Given the description of an element on the screen output the (x, y) to click on. 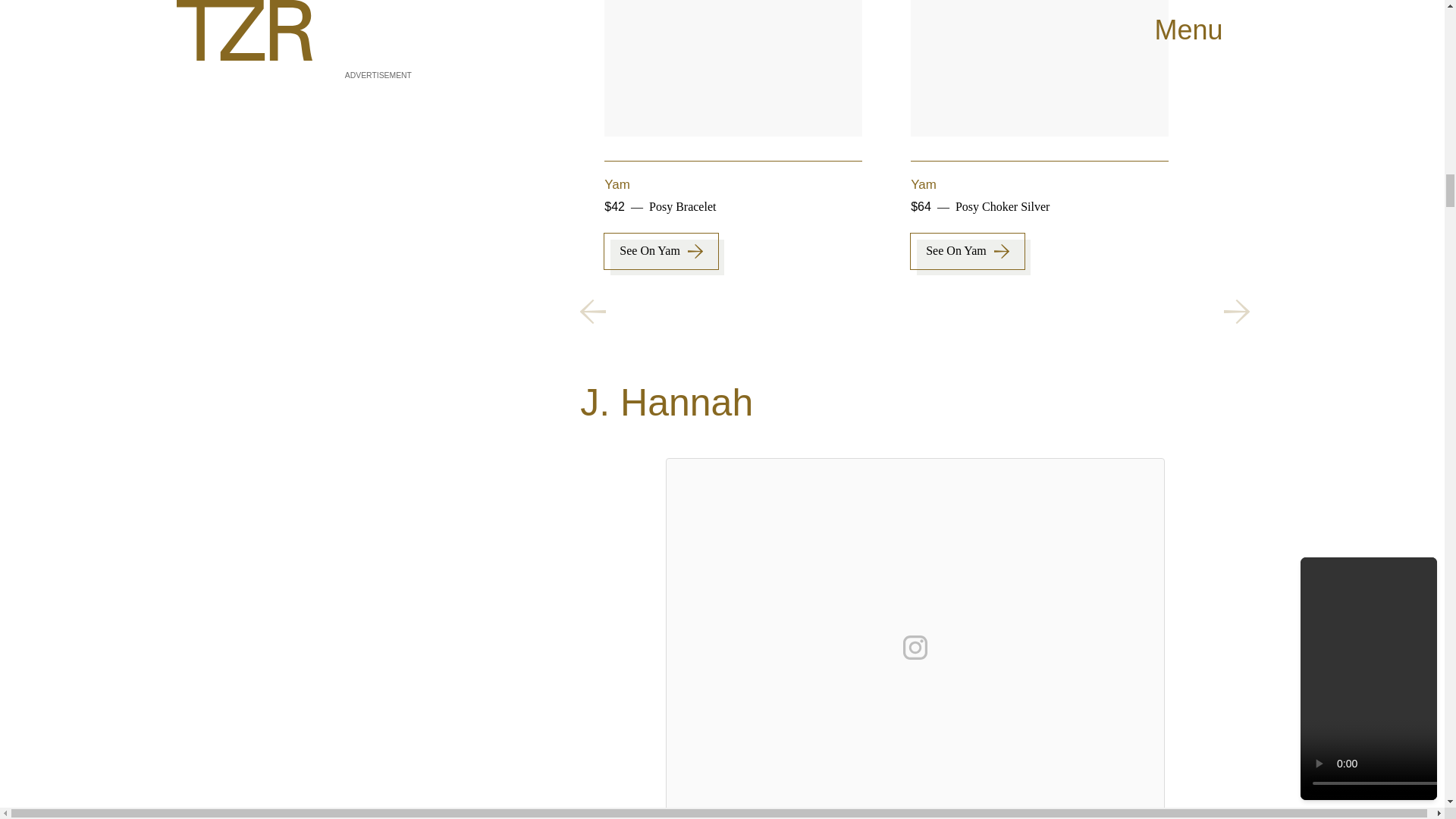
See On Yam (968, 251)
Previous page (592, 310)
View on Instagram (914, 647)
See On Yam (660, 251)
See On Yam (1273, 251)
Next page (1236, 310)
